Given the description of an element on the screen output the (x, y) to click on. 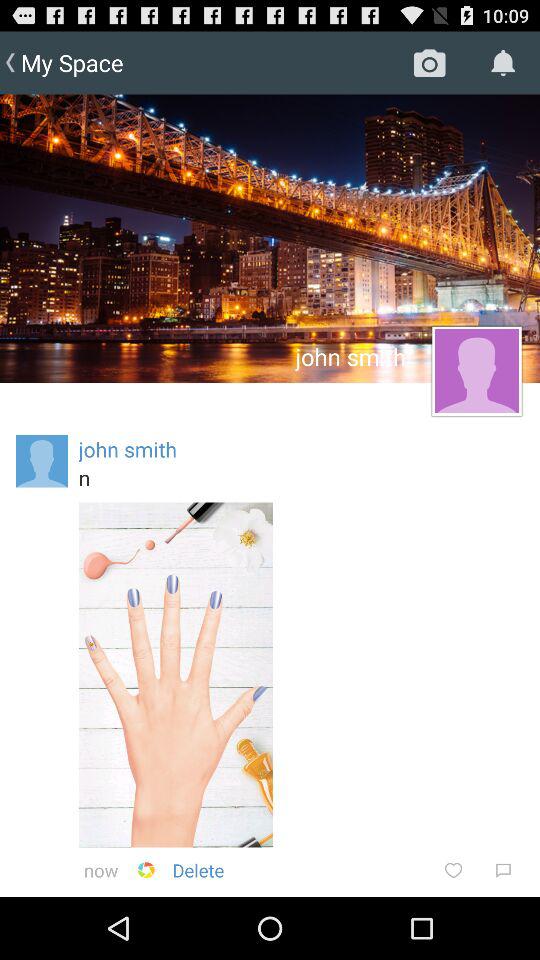
tap the n icon (301, 477)
